Given the description of an element on the screen output the (x, y) to click on. 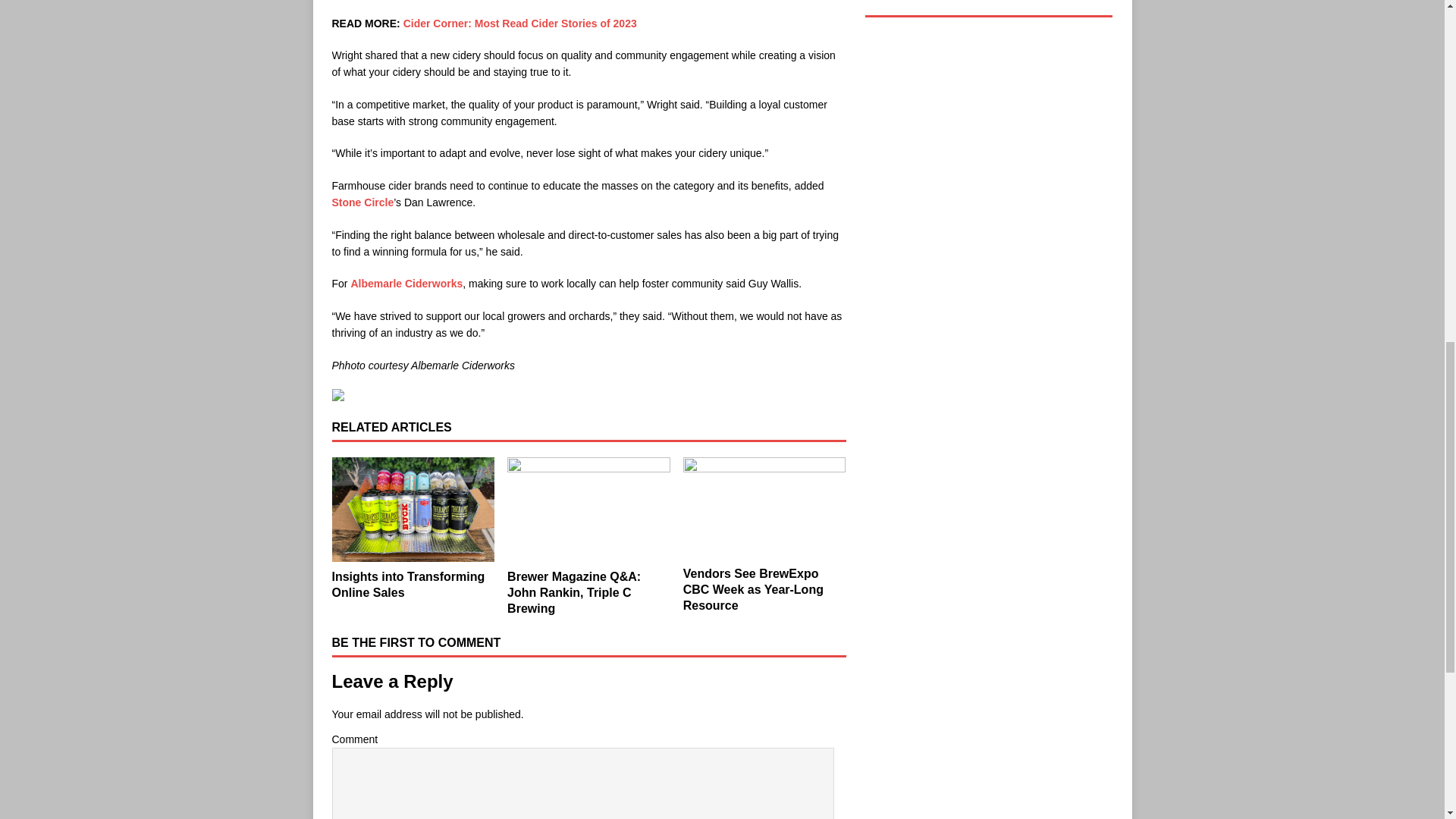
Cider Corner: Most Read Cider Stories of 2023 (520, 23)
Stone Circle (362, 202)
Insights into Transforming Online Sales (413, 509)
Insights into Transforming Online Sales (407, 584)
Insights into Transforming Online Sales (407, 584)
Albemarle Ciderworks (406, 283)
Vendors See BrewExpo CBC Week as Year-Long Resource (753, 589)
Vendors See BrewExpo CBC Week as Year-Long Resource (763, 507)
Vendors See BrewExpo CBC Week as Year-Long Resource (753, 589)
